Given the description of an element on the screen output the (x, y) to click on. 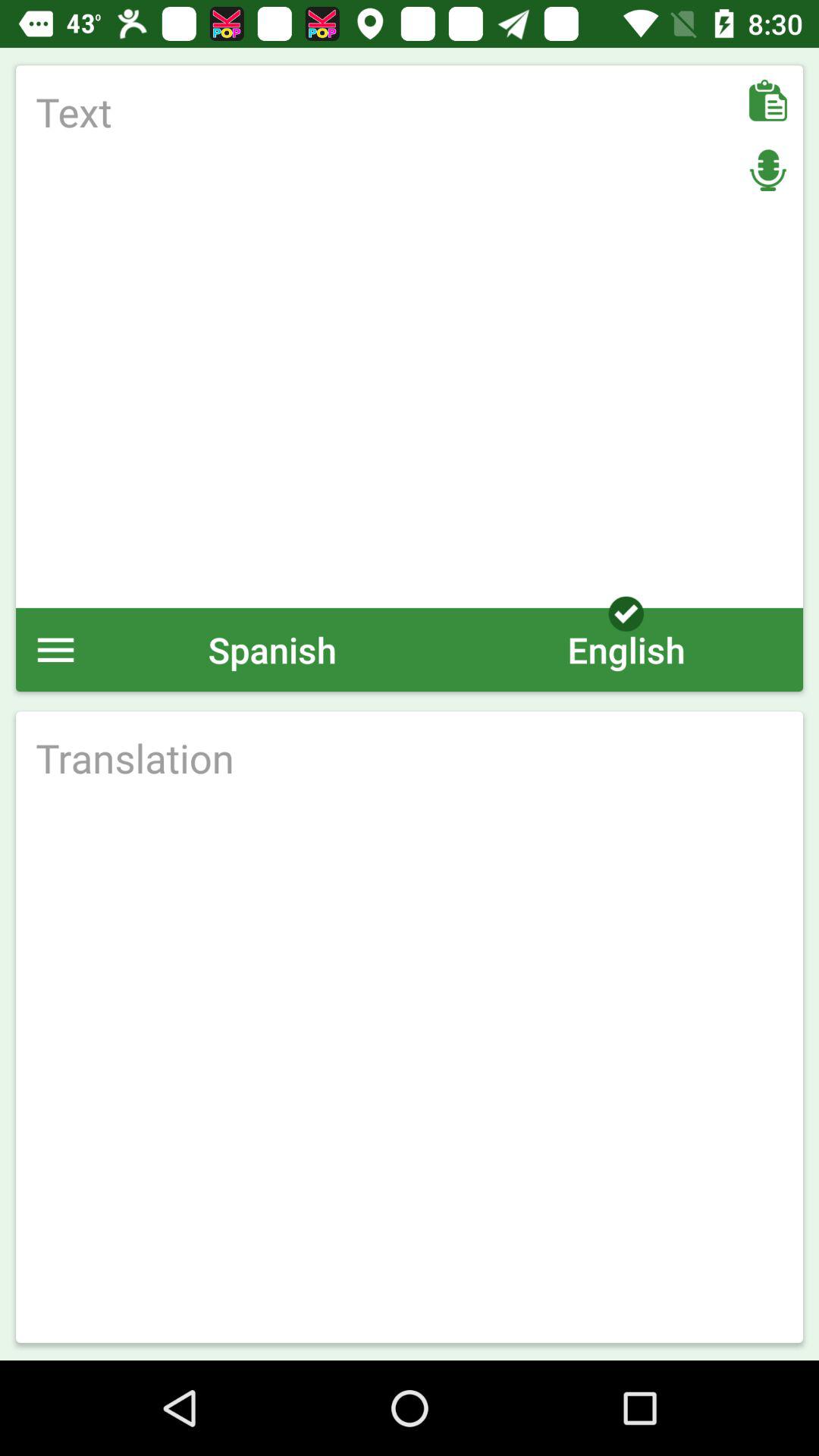
hit button (409, 757)
